Given the description of an element on the screen output the (x, y) to click on. 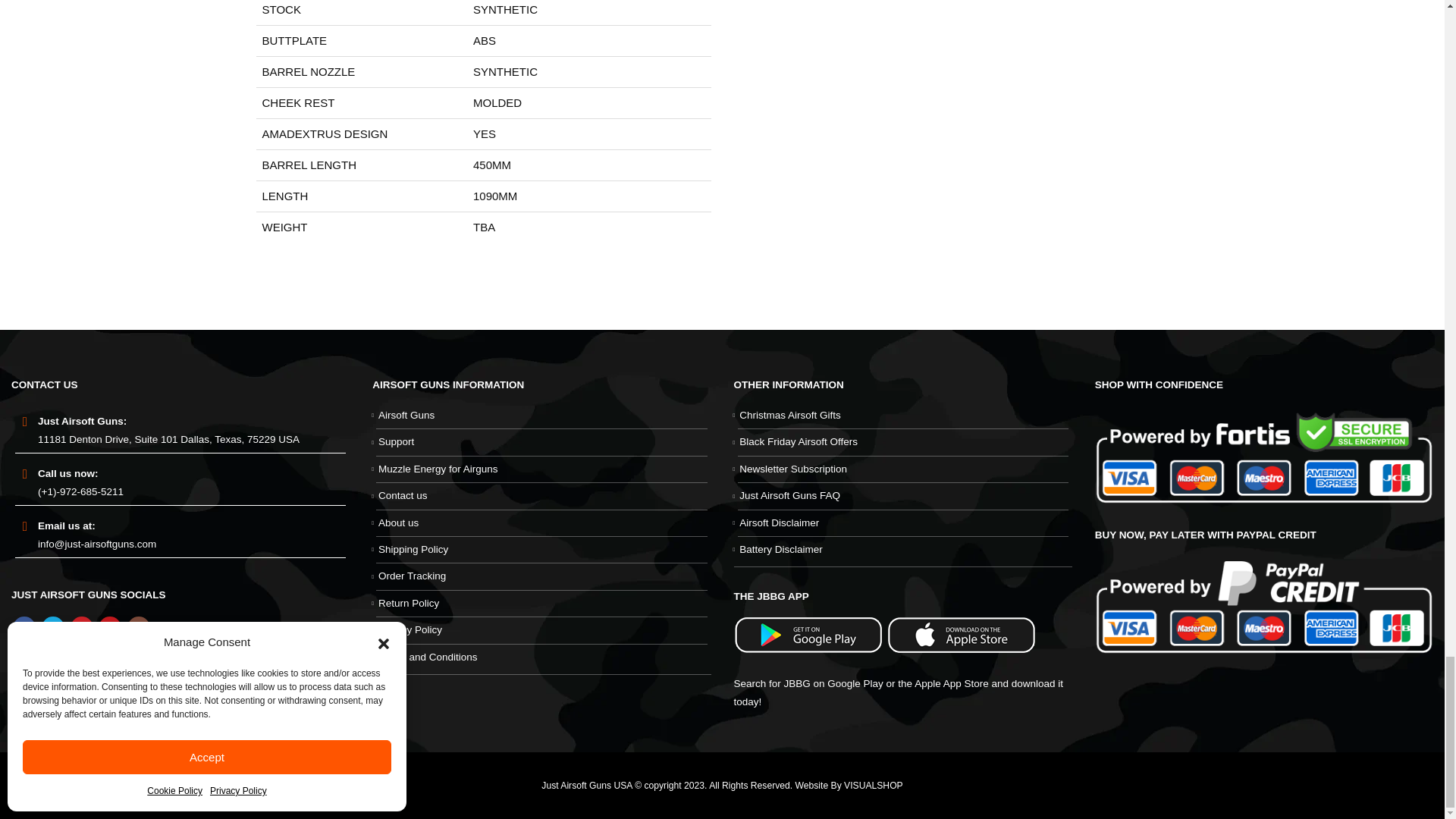
Pinterest (81, 627)
Twitter (53, 627)
Youtube (109, 627)
Facebook (23, 627)
Instagram (138, 627)
